Given the description of an element on the screen output the (x, y) to click on. 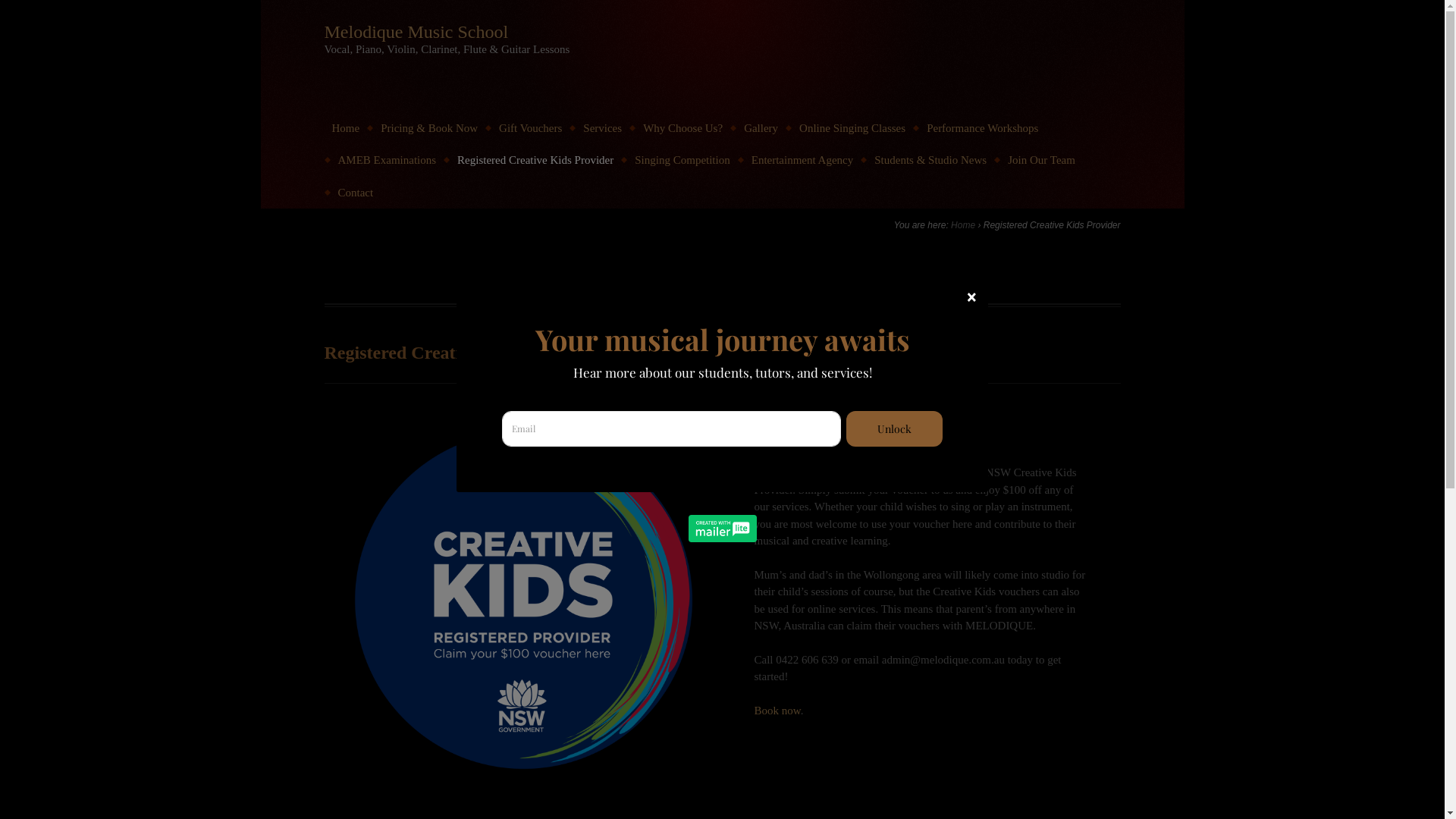
Why Choose Us? Element type: text (682, 128)
Contact Element type: text (355, 191)
Services Element type: text (602, 128)
Join Our Team Element type: text (1041, 160)
Pricing & Book Now Element type: text (429, 128)
Home Element type: text (345, 128)
Registered Creative Kids Provider Element type: text (535, 160)
Home Element type: text (962, 224)
AMEB Examinations Element type: text (387, 160)
Book now Element type: text (776, 710)
Melodique Music School Element type: text (416, 31)
Entertainment Agency Element type: text (802, 160)
Gift Vouchers Element type: text (530, 128)
Gallery Element type: text (760, 128)
Singing Competition Element type: text (682, 160)
Online Singing Classes Element type: text (852, 128)
Performance Workshops Element type: text (982, 128)
Students & Studio News Element type: text (930, 160)
